Given the description of an element on the screen output the (x, y) to click on. 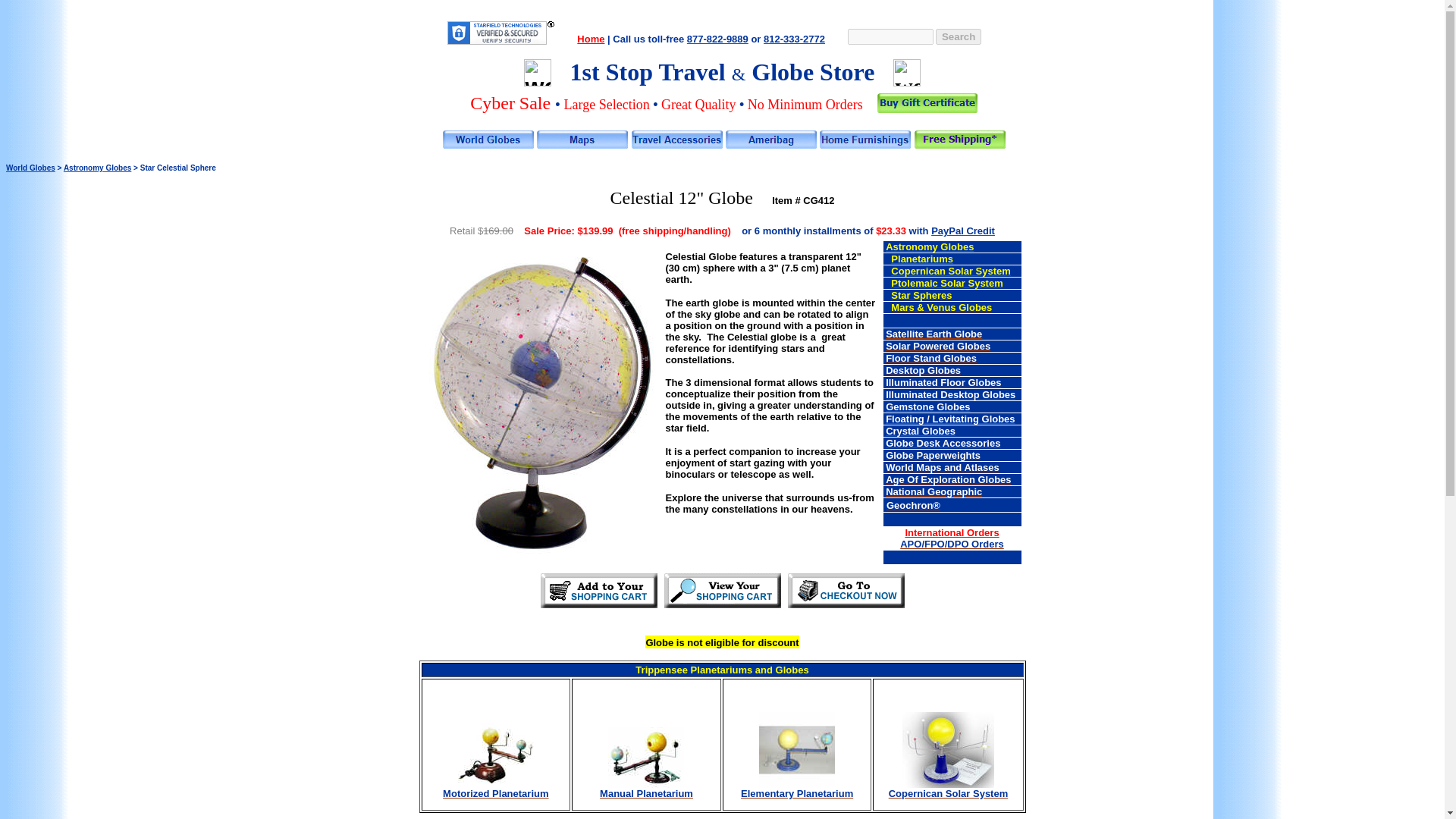
Copernican Solar System (950, 269)
Ptolemaic Solar System (947, 282)
Globe Paperweights (932, 454)
Floor Stand Globes (930, 357)
Planetariums (922, 257)
World Maps and Atlases (941, 466)
Globe Desk Accessories (942, 441)
Illuminated Desktop Globes (949, 393)
Solar Powered Globes (937, 345)
Age Of Exploration Globes (947, 478)
